Given the description of an element on the screen output the (x, y) to click on. 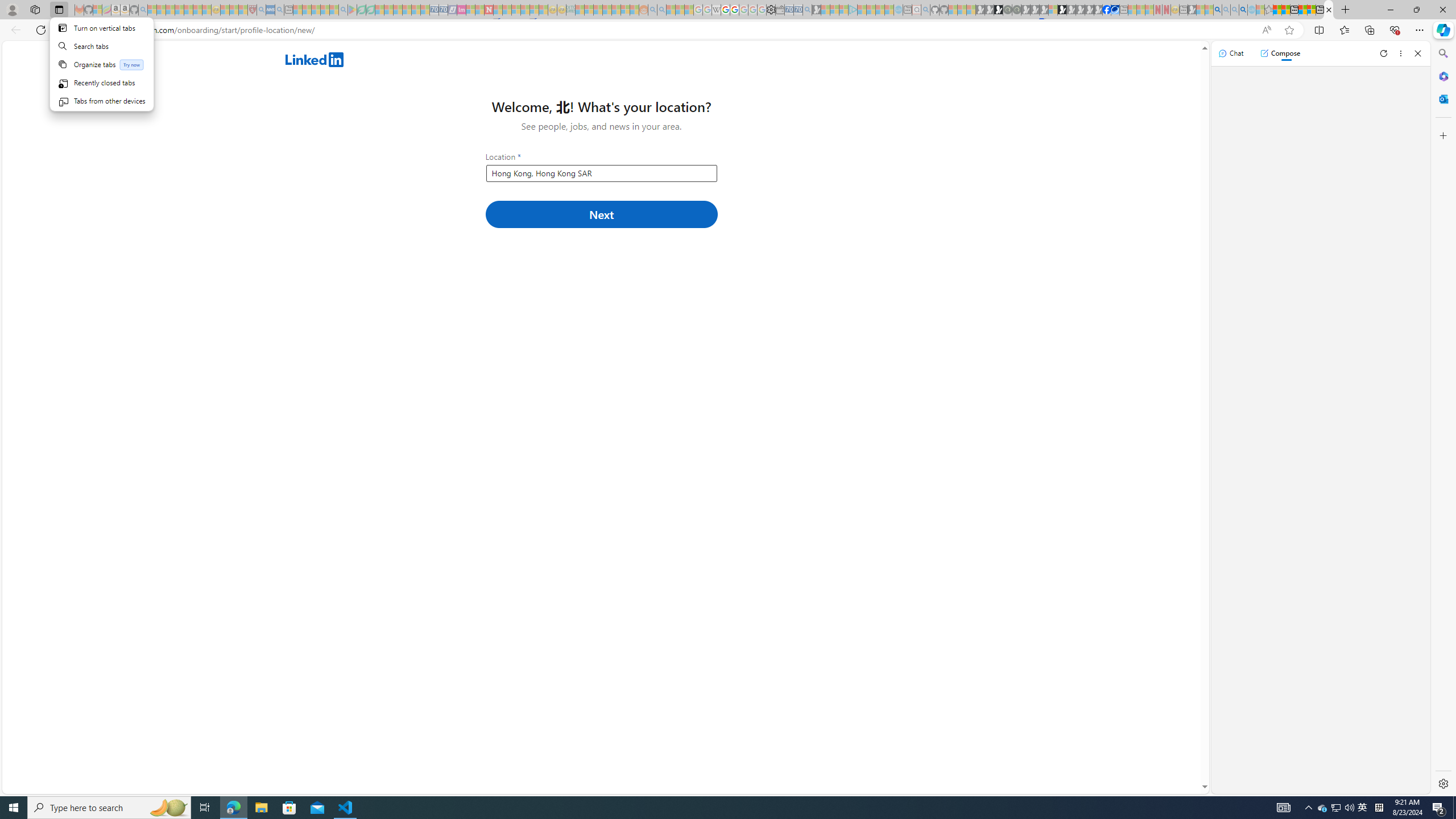
Jobs - lastminute.com Investor Portal - Sleeping (461, 9)
Tab Actions (101, 71)
Bing Real Estate - Home sales and rental listings - Sleeping (806, 9)
Expert Portfolios - Sleeping (606, 9)
Favorites - Sleeping (1268, 9)
